Given the description of an element on the screen output the (x, y) to click on. 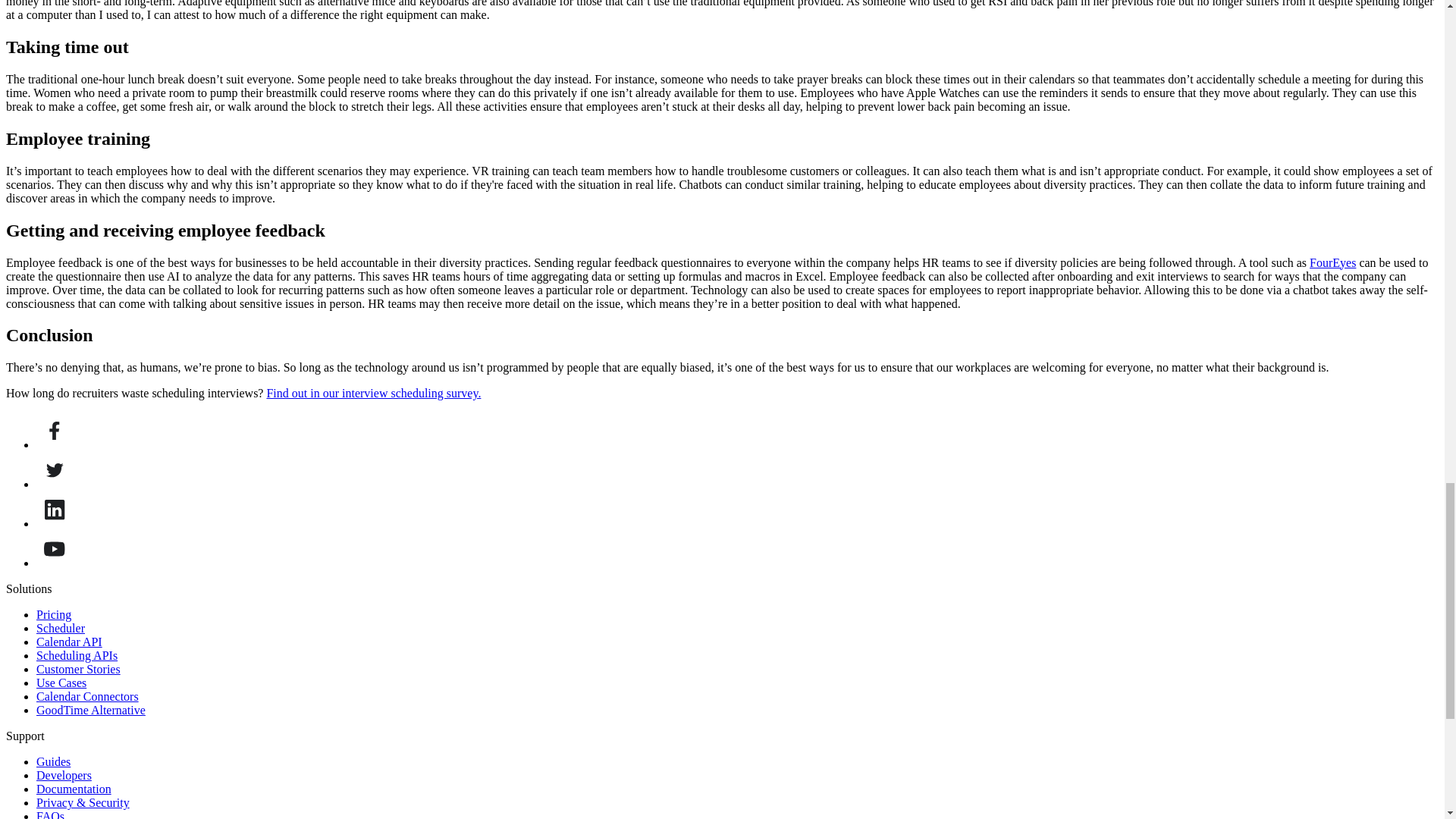
FourEyes (1331, 262)
Find out in our interview scheduling survey. (373, 392)
